Given the description of an element on the screen output the (x, y) to click on. 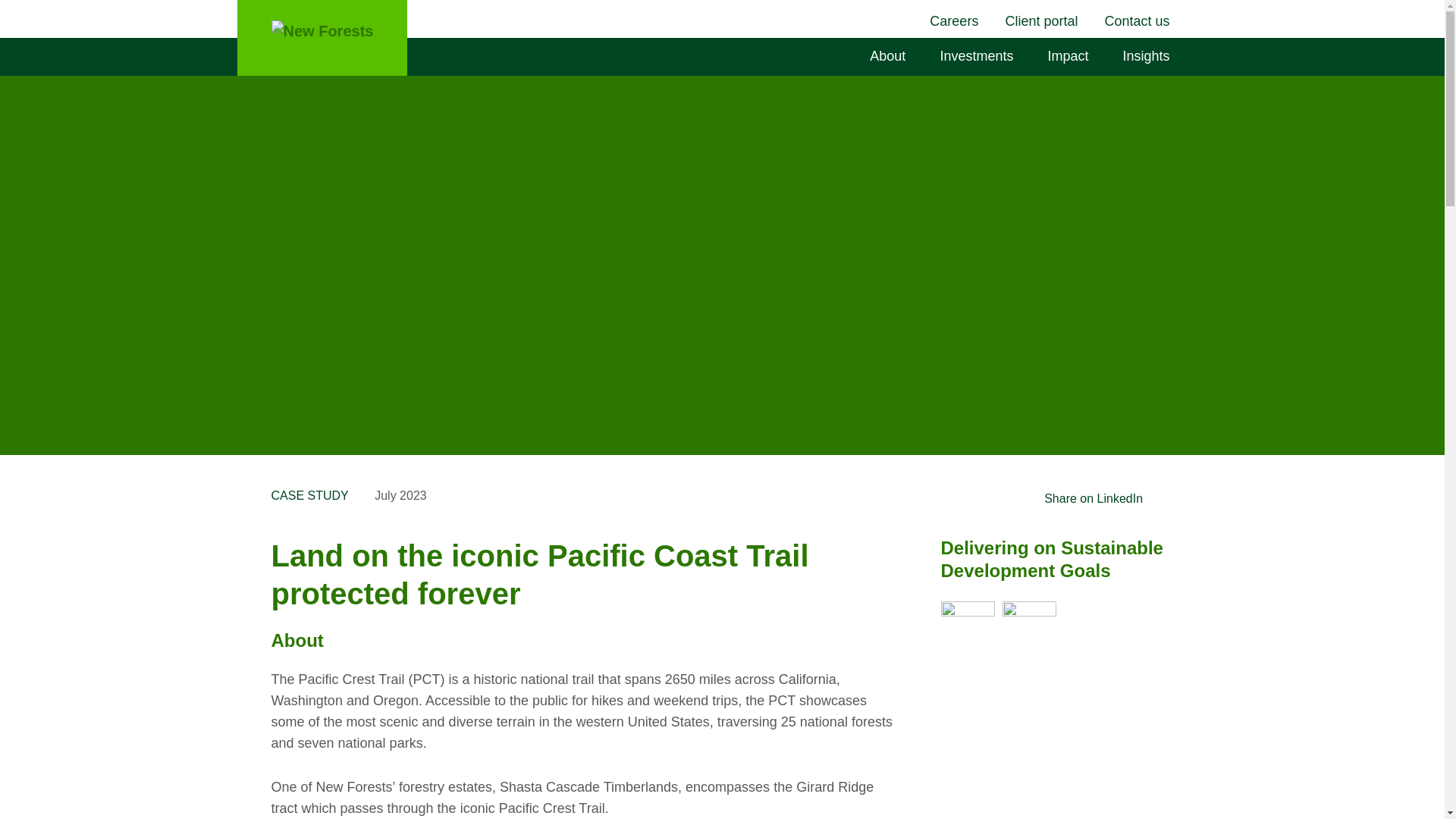
Investments  (978, 56)
Contact us  (1138, 20)
Client portal  (1042, 20)
Share on LinkedIn (1092, 497)
Careers  (955, 20)
About  (889, 56)
Insights  (1147, 56)
Impact  (1069, 56)
